Given the description of an element on the screen output the (x, y) to click on. 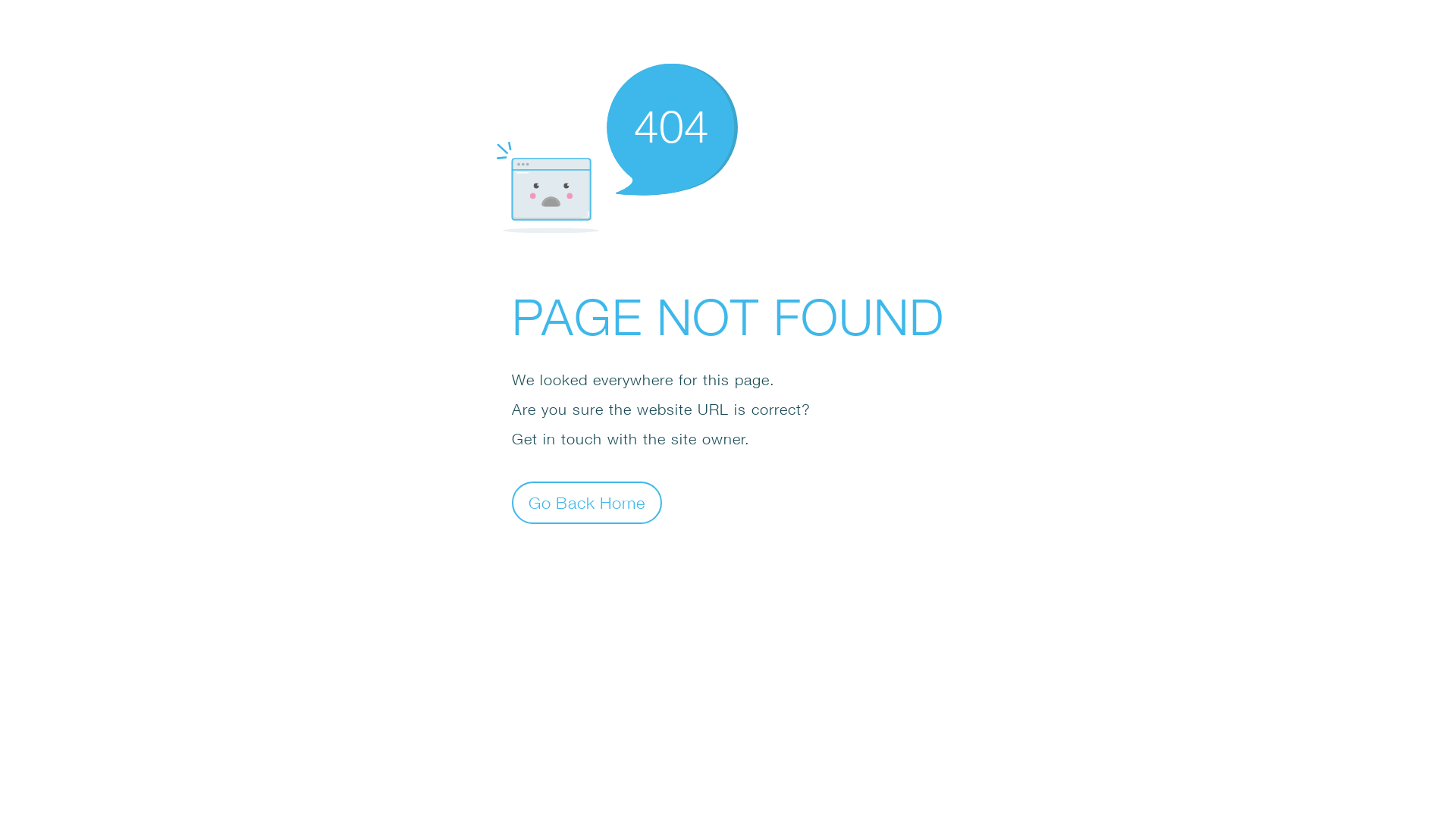
Go Back Home Element type: text (586, 502)
